Given the description of an element on the screen output the (x, y) to click on. 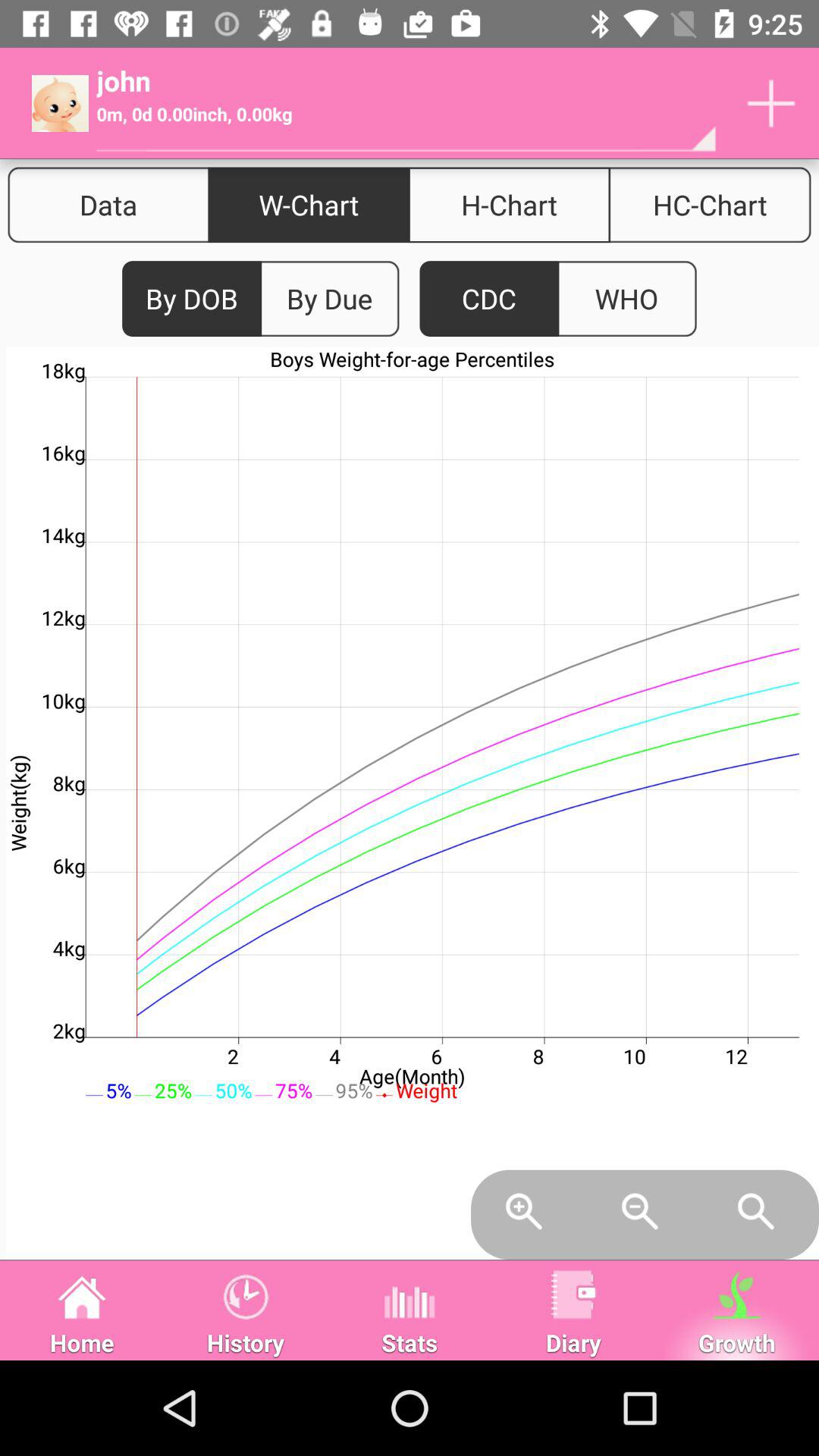
press the item next to the by due icon (489, 298)
